Given the description of an element on the screen output the (x, y) to click on. 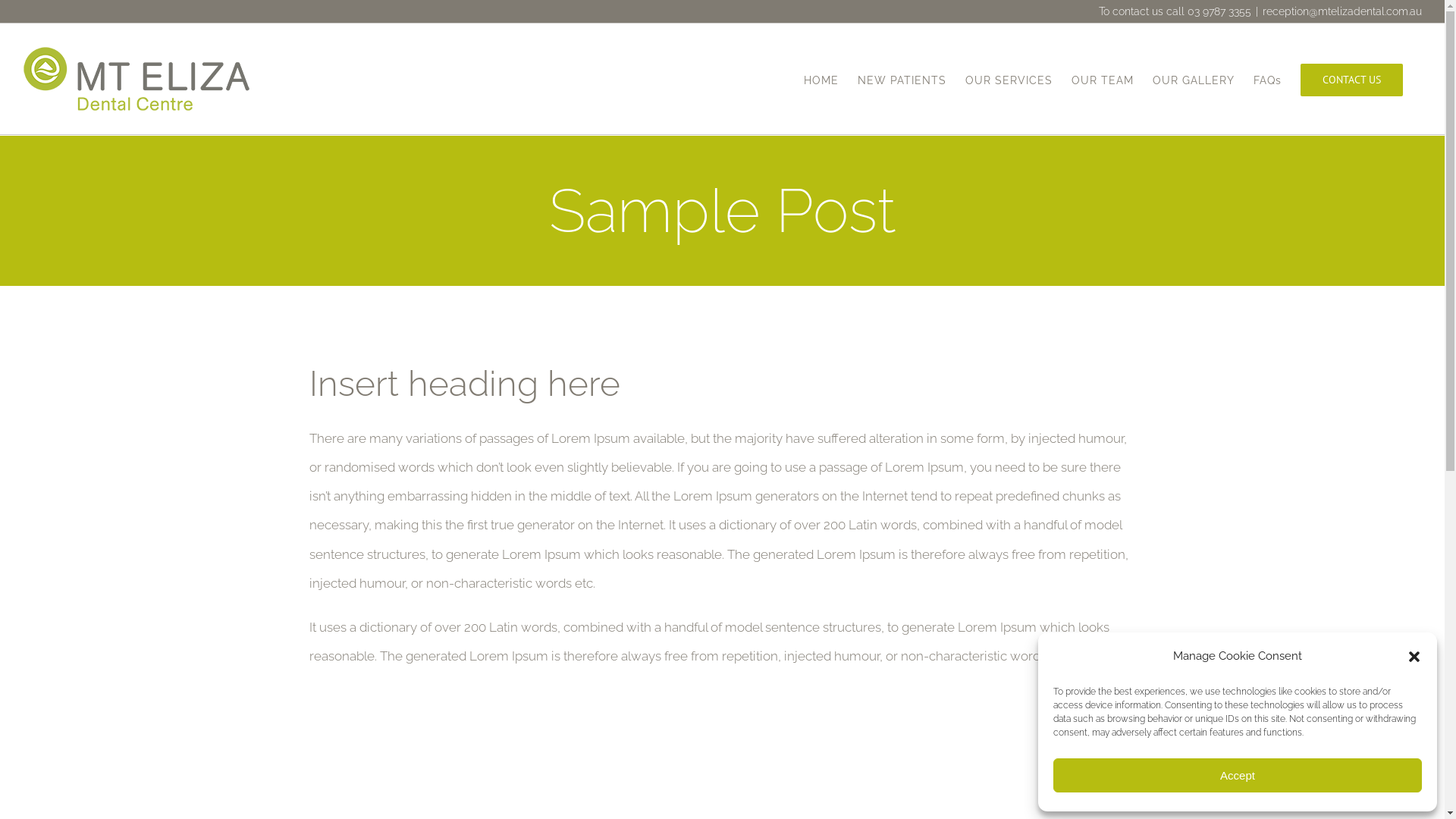
reception@mtelizadental.com.au Element type: text (1341, 11)
OUR TEAM Element type: text (1102, 78)
CONTACT US Element type: text (1351, 78)
OUR SERVICES Element type: text (1008, 78)
FAQs Element type: text (1267, 78)
OUR GALLERY Element type: text (1193, 78)
Accept Element type: text (1237, 775)
NEW PATIENTS Element type: text (901, 78)
HOME Element type: text (820, 78)
